Given the description of an element on the screen output the (x, y) to click on. 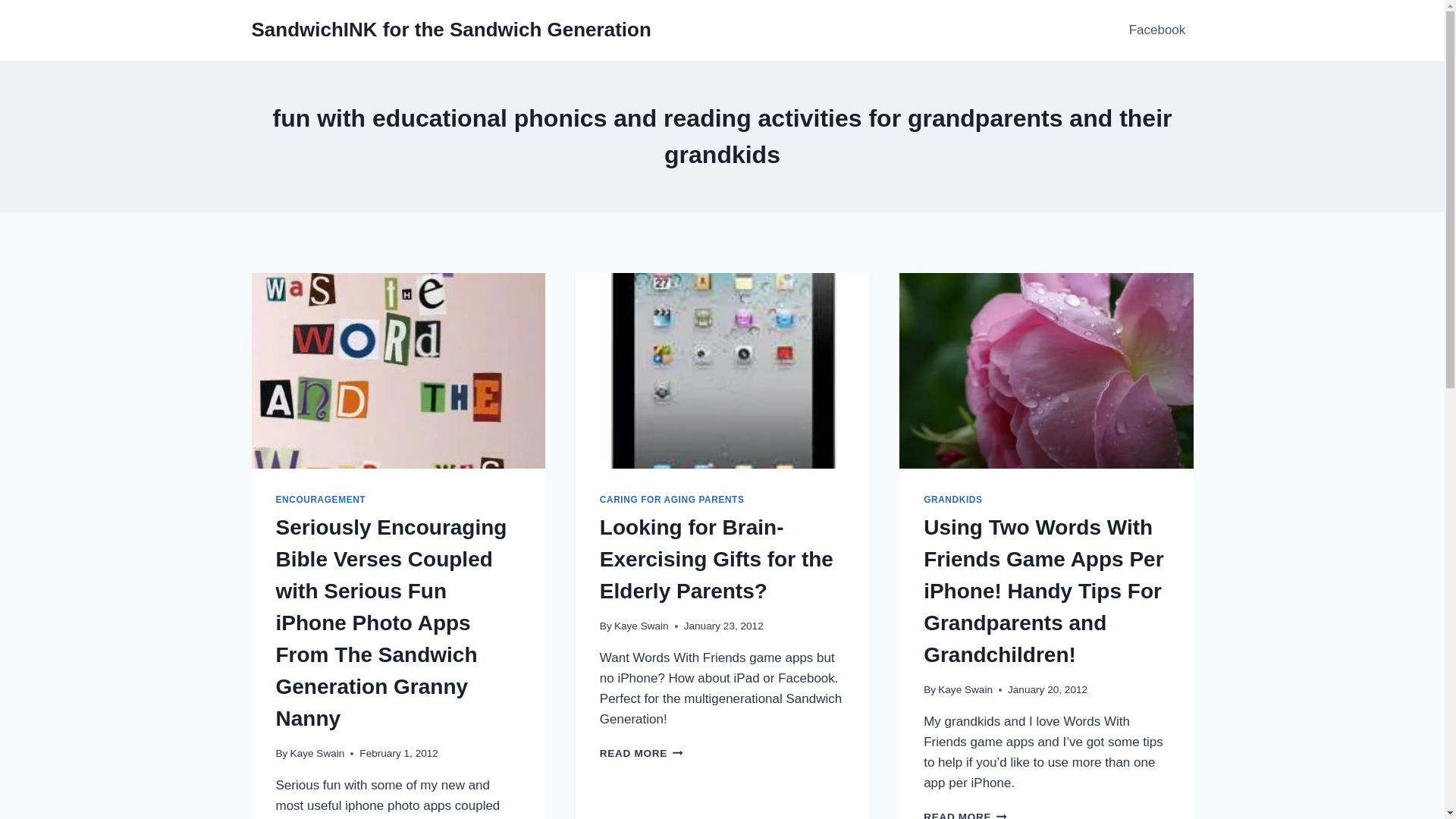
Kaye Swain (641, 625)
SandwichINK for the Sandwich Generation (450, 29)
Kaye Swain (964, 689)
Looking for Brain-Exercising Gifts for the Elderly Parents? (715, 558)
GRANDKIDS (952, 499)
CARING FOR AGING PARENTS (671, 499)
Facebook (1156, 30)
